Given the description of an element on the screen output the (x, y) to click on. 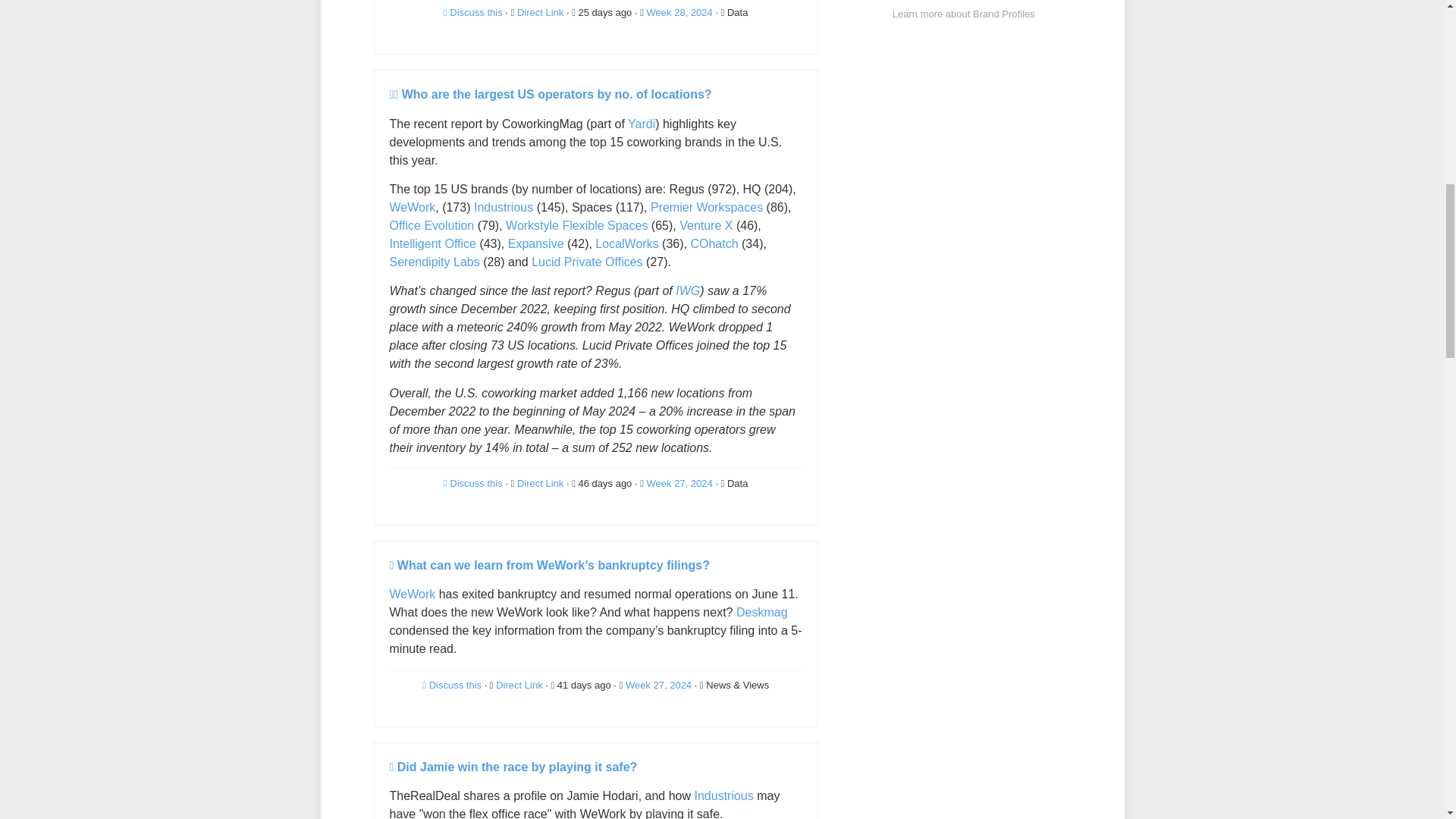
Direct Link (541, 12)
Premier Workspaces (706, 206)
Week 28, 2024 (679, 12)
Office Evolution (432, 225)
Yardi (641, 123)
Industrious (503, 206)
Workstyle Flexible Spaces (576, 225)
WeWork (412, 206)
